Given the description of an element on the screen output the (x, y) to click on. 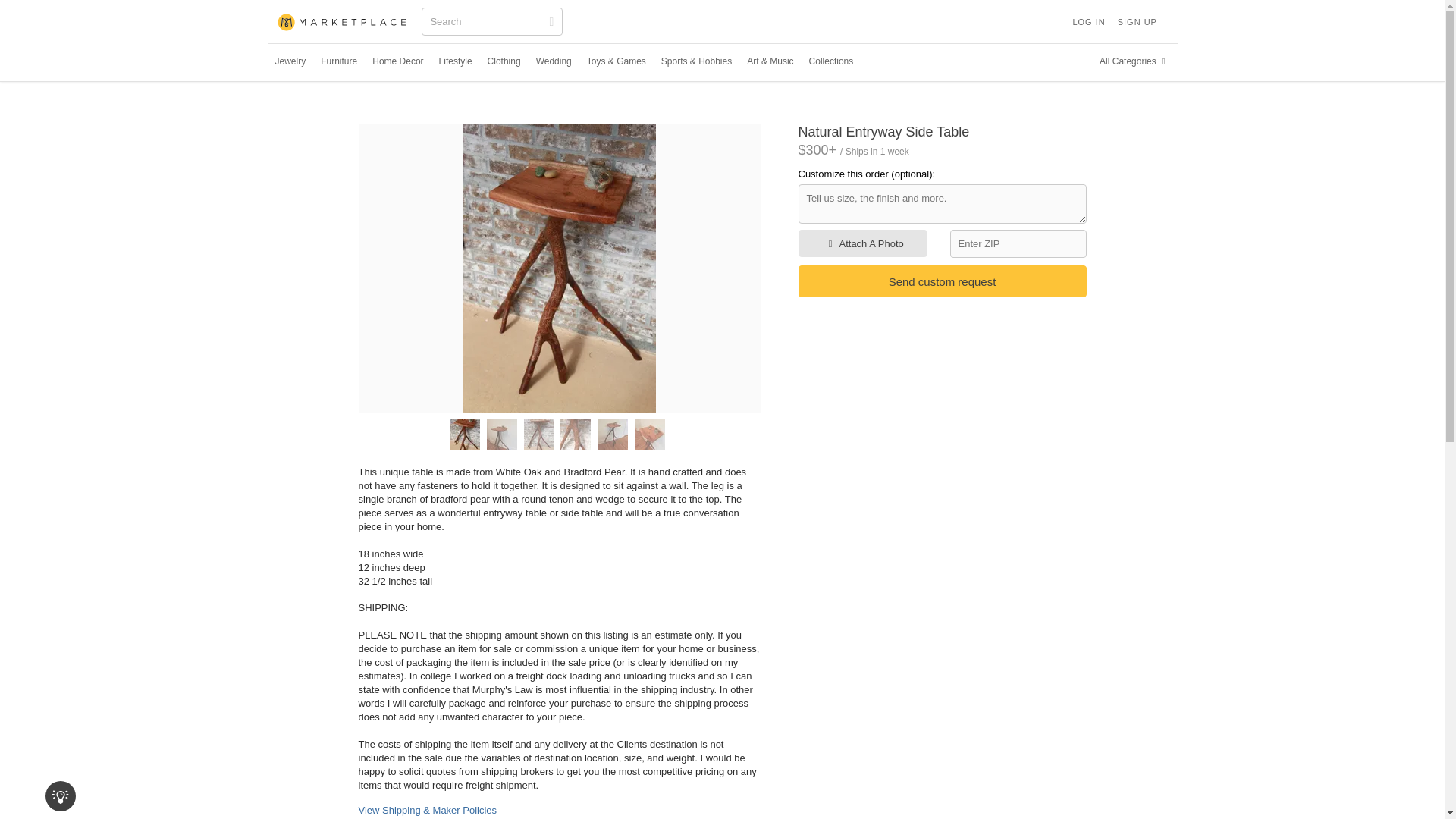
All Categories (1134, 61)
Custom Jewelry (289, 61)
SIGN UP (1137, 21)
CUSTOMMADE (342, 22)
LOG IN (1087, 21)
Jewelry (289, 61)
Log in to CustomMade (1087, 21)
